Given the description of an element on the screen output the (x, y) to click on. 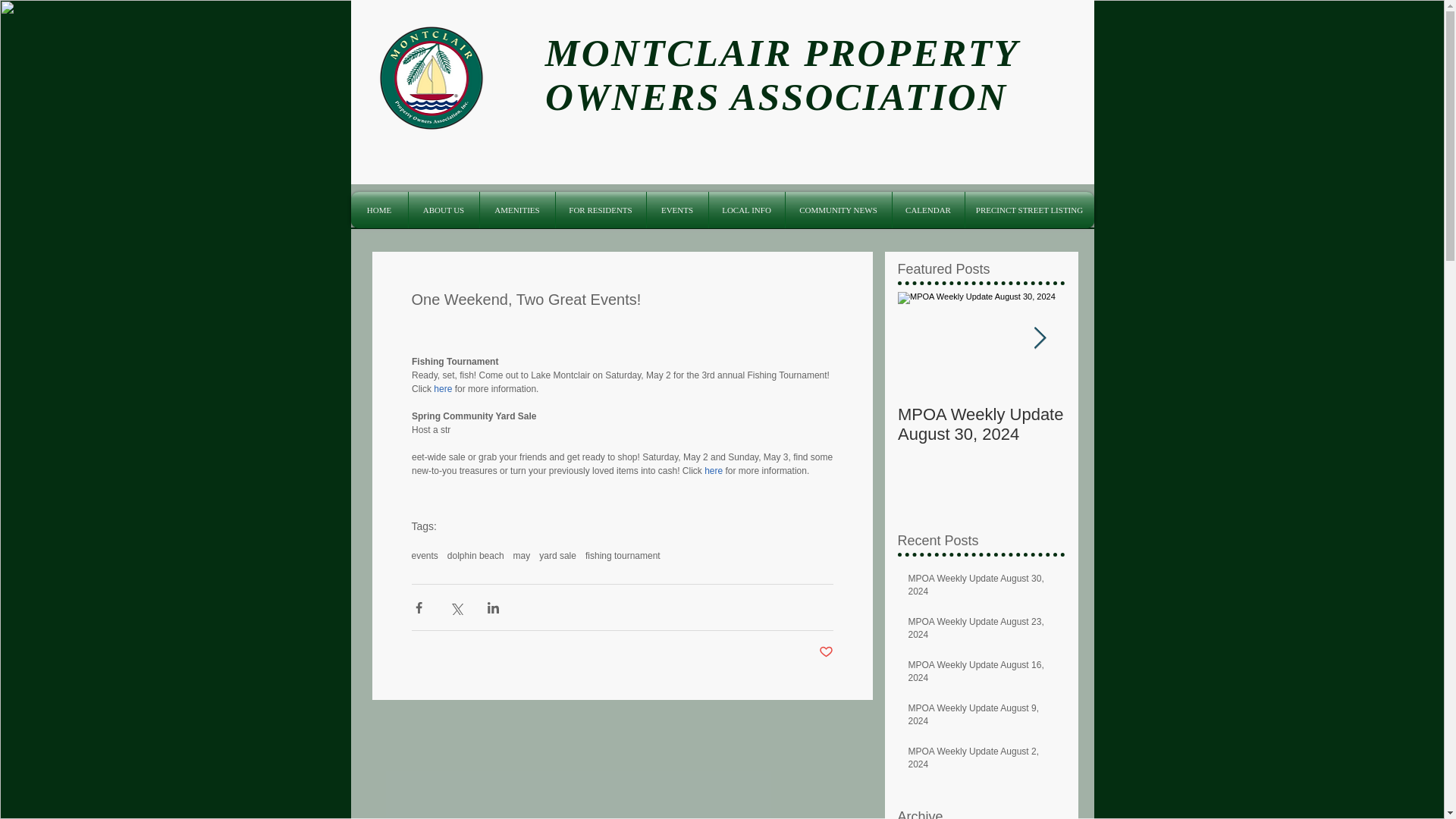
ABOUT US (443, 209)
HOME (378, 209)
FOR RESIDENTS (599, 209)
EVENTS (676, 209)
MPOA LOGO COLOR.png (430, 78)
AMENITIES (516, 209)
